Given the description of an element on the screen output the (x, y) to click on. 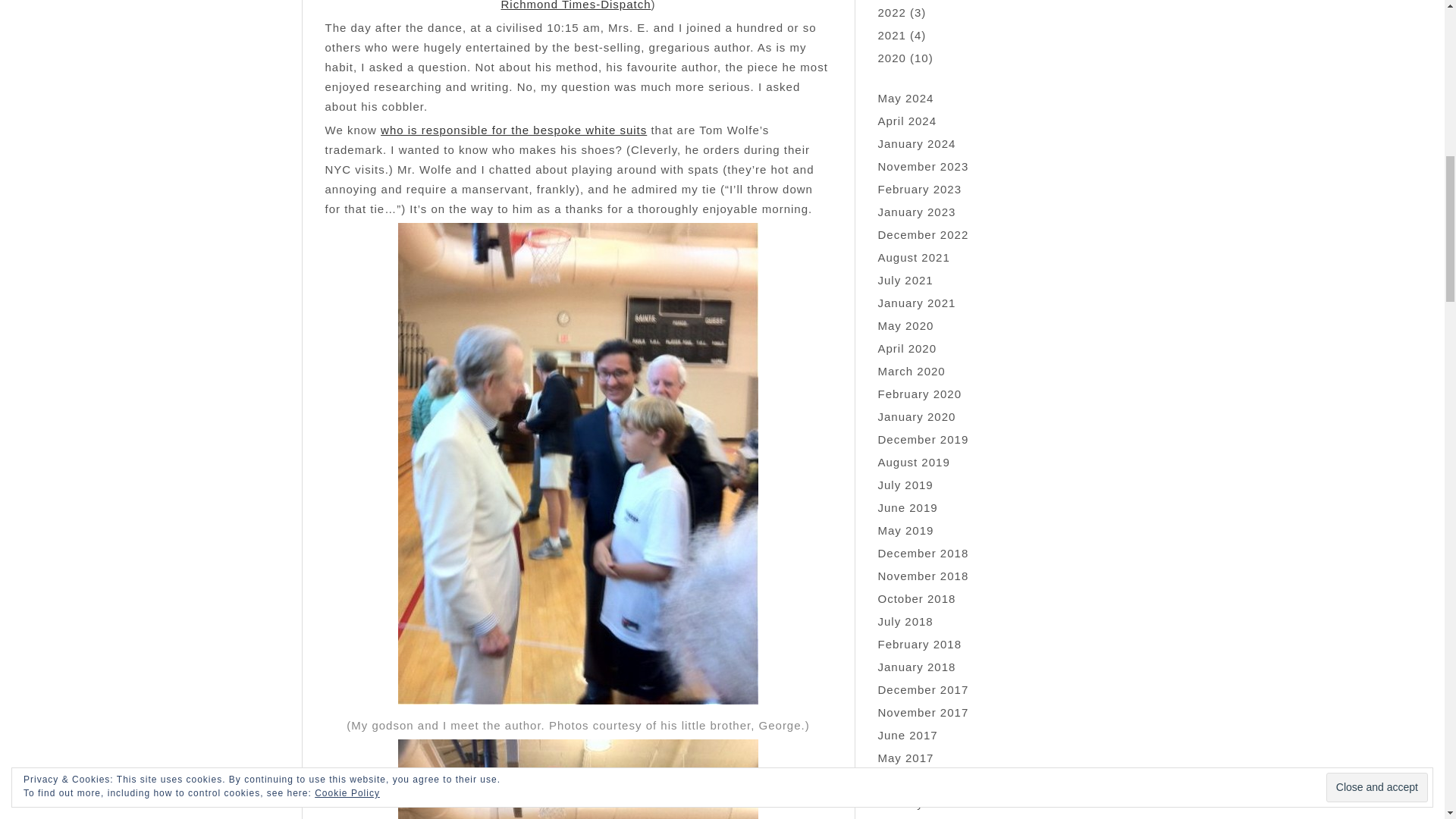
Image via The Richmond Times-Dispatch (658, 5)
who is responsible for the bespoke white suits (513, 129)
